Given the description of an element on the screen output the (x, y) to click on. 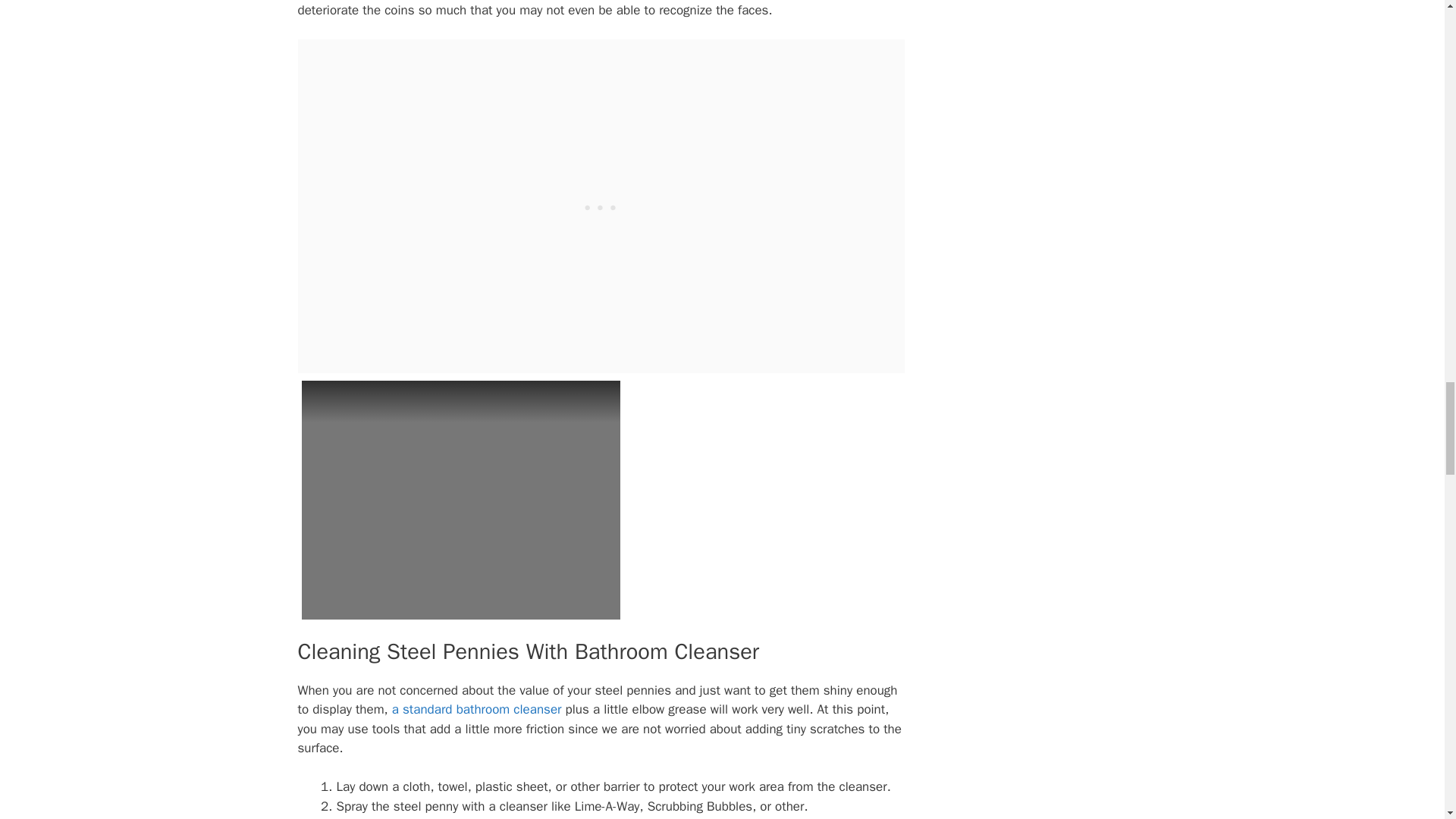
a standard bathroom cleanser (476, 709)
